Given the description of an element on the screen output the (x, y) to click on. 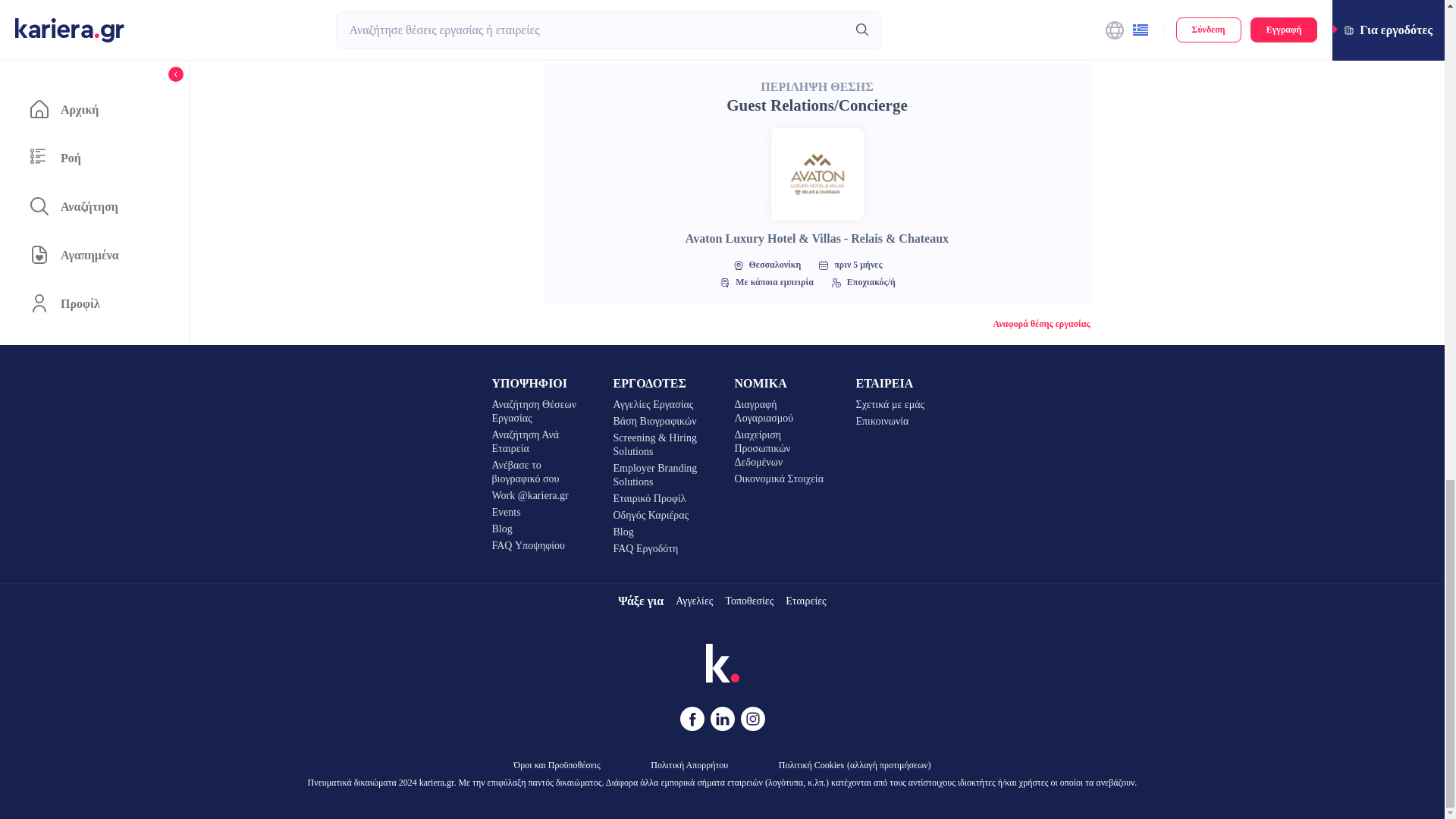
hotel (563, 13)
Events (540, 512)
front office (618, 13)
concierge (952, 13)
luxury brands (690, 13)
Employer Branding Solutions (661, 474)
vip (1002, 13)
hospitality careers (877, 13)
Blog (540, 529)
